Given the description of an element on the screen output the (x, y) to click on. 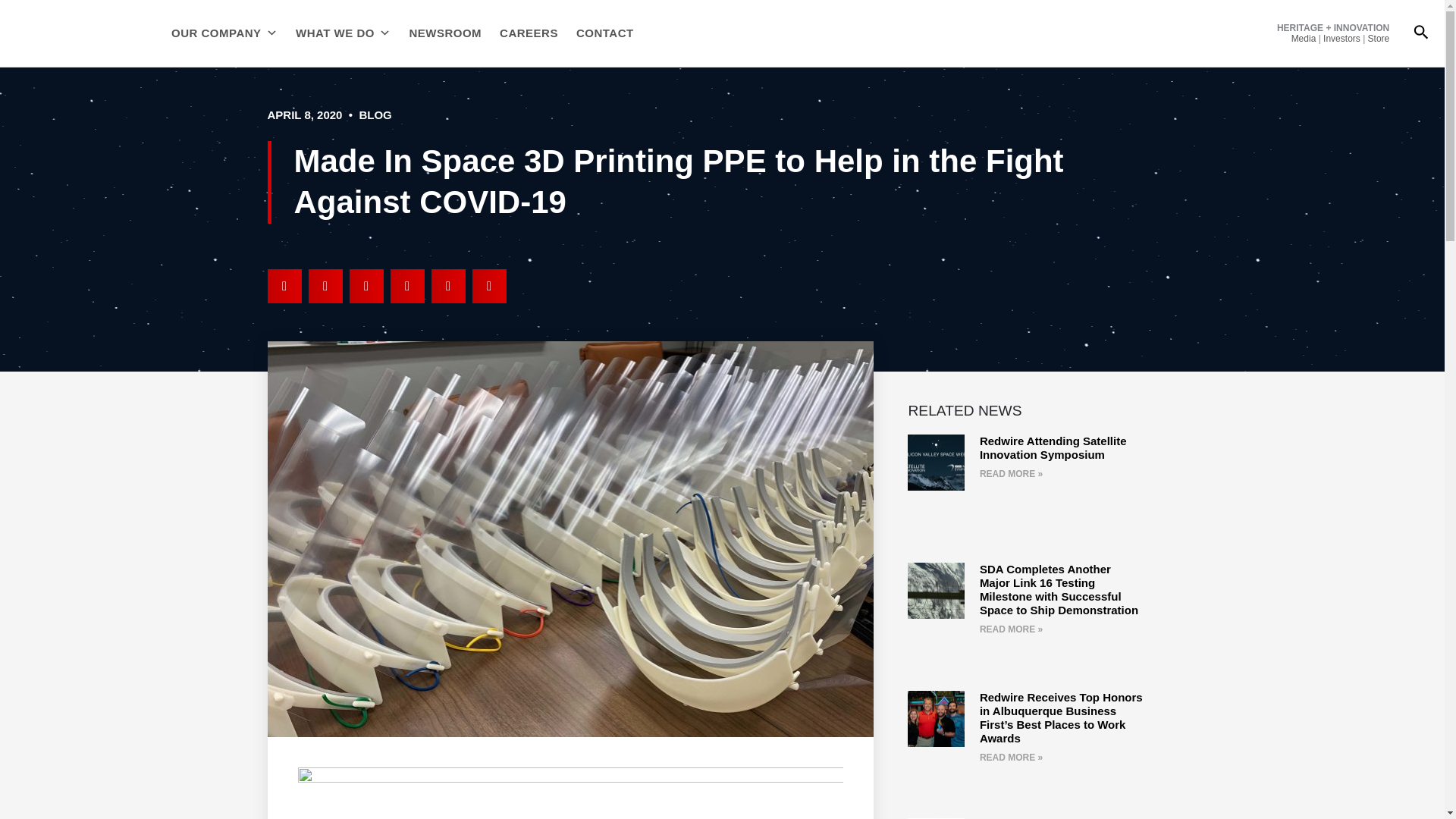
Media (1303, 38)
Investors (1341, 38)
Redwire Attending Satellite Innovation Symposium (1052, 447)
CAREERS (528, 33)
BLOG (374, 114)
NEWSROOM (445, 33)
OUR COMPANY (224, 33)
CONTACT (604, 33)
Store (1379, 38)
